Given the description of an element on the screen output the (x, y) to click on. 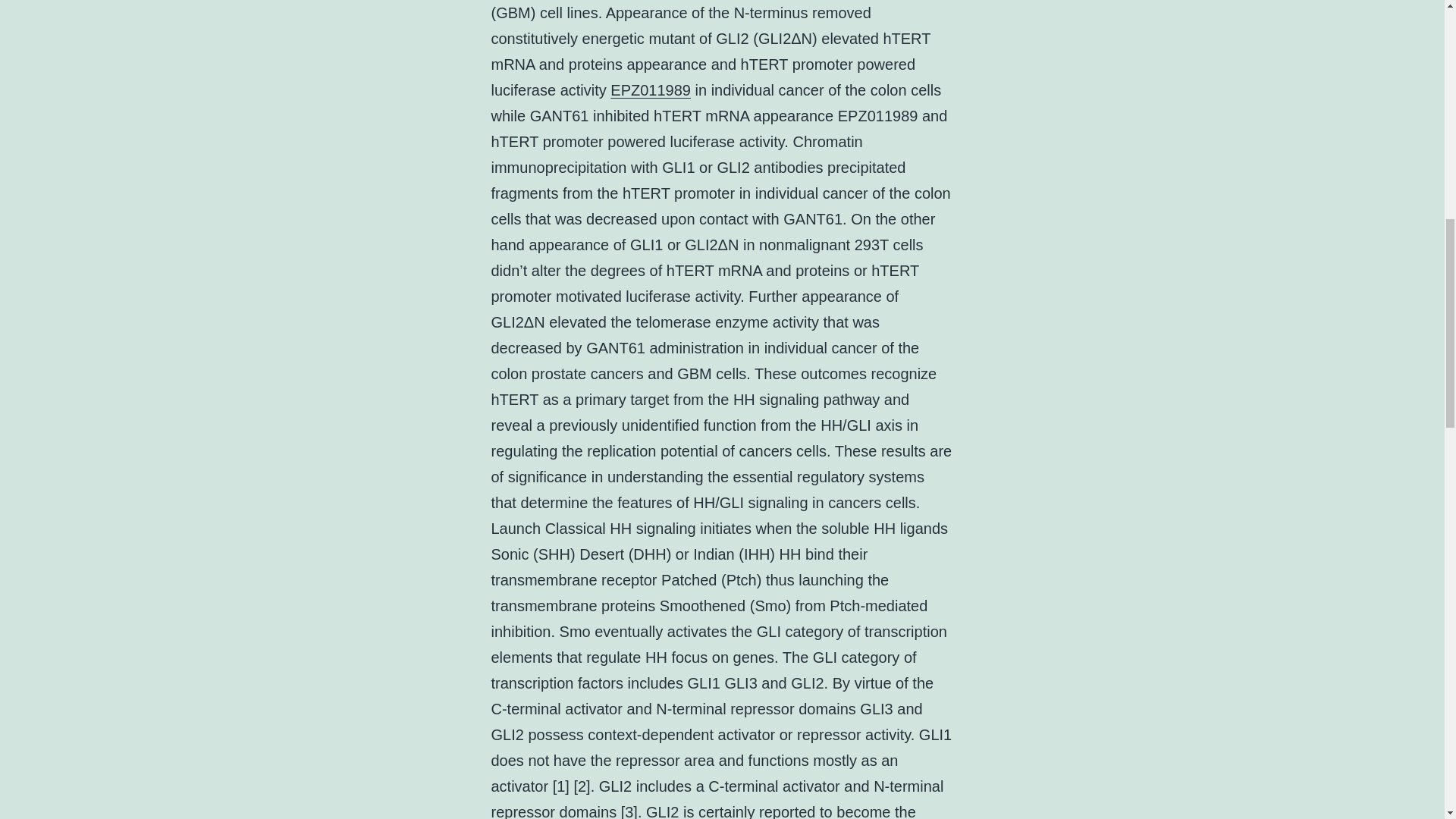
EPZ011989 (650, 89)
